Given the description of an element on the screen output the (x, y) to click on. 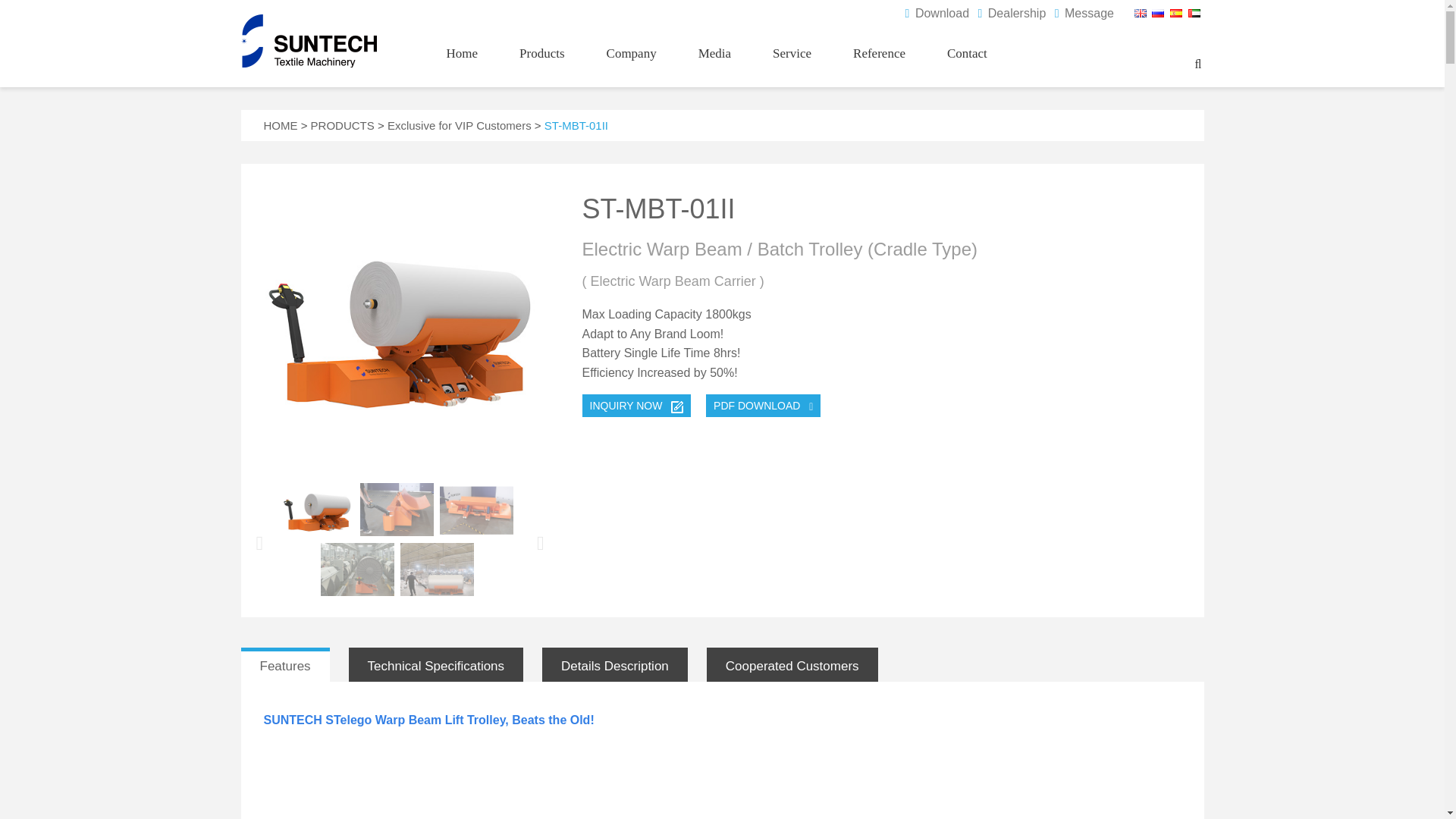
Download (937, 12)
Dealership (1012, 12)
Products (541, 61)
Message (1083, 12)
